Given the description of an element on the screen output the (x, y) to click on. 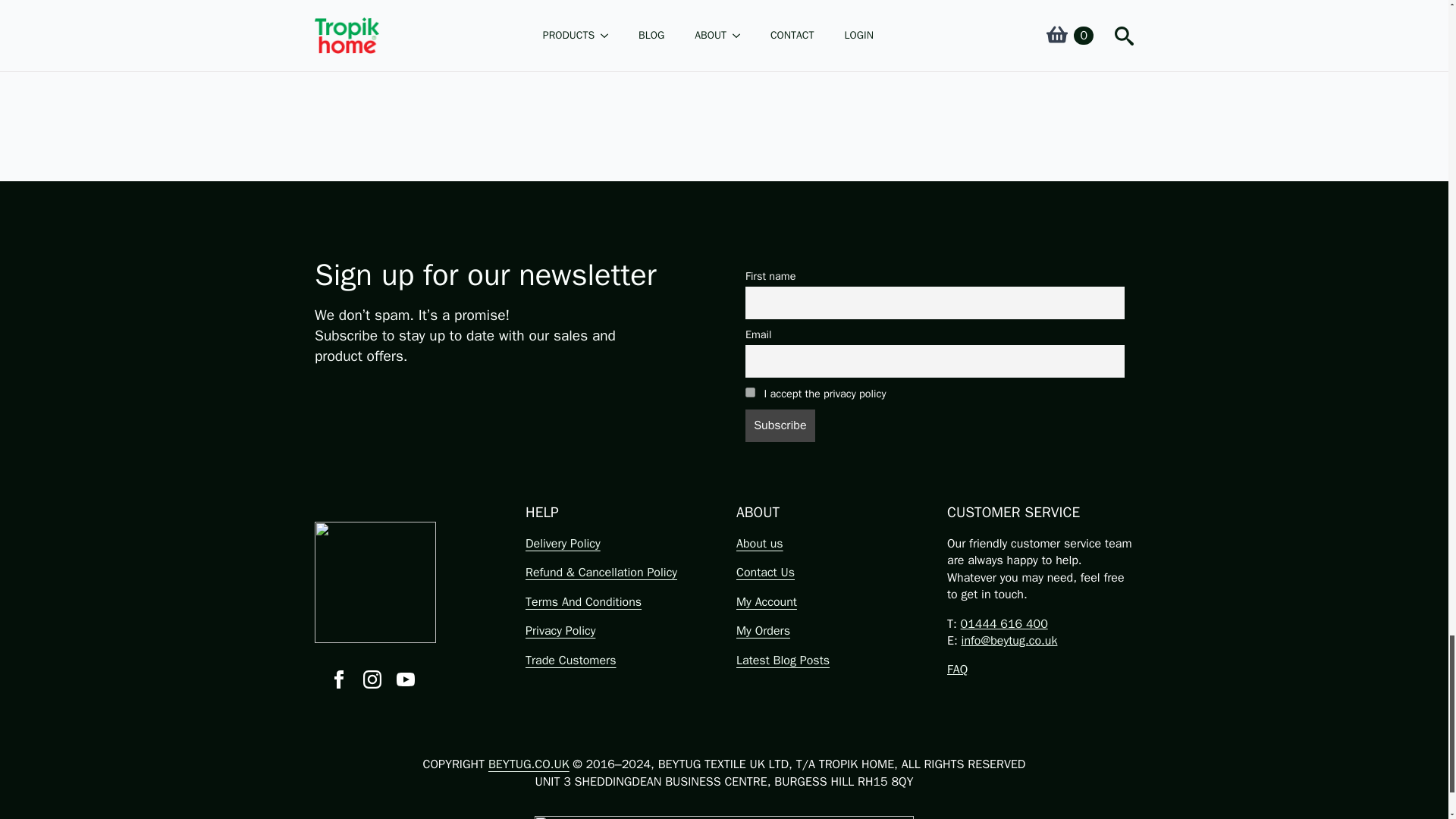
Subscribe (780, 425)
on (750, 392)
